Given the description of an element on the screen output the (x, y) to click on. 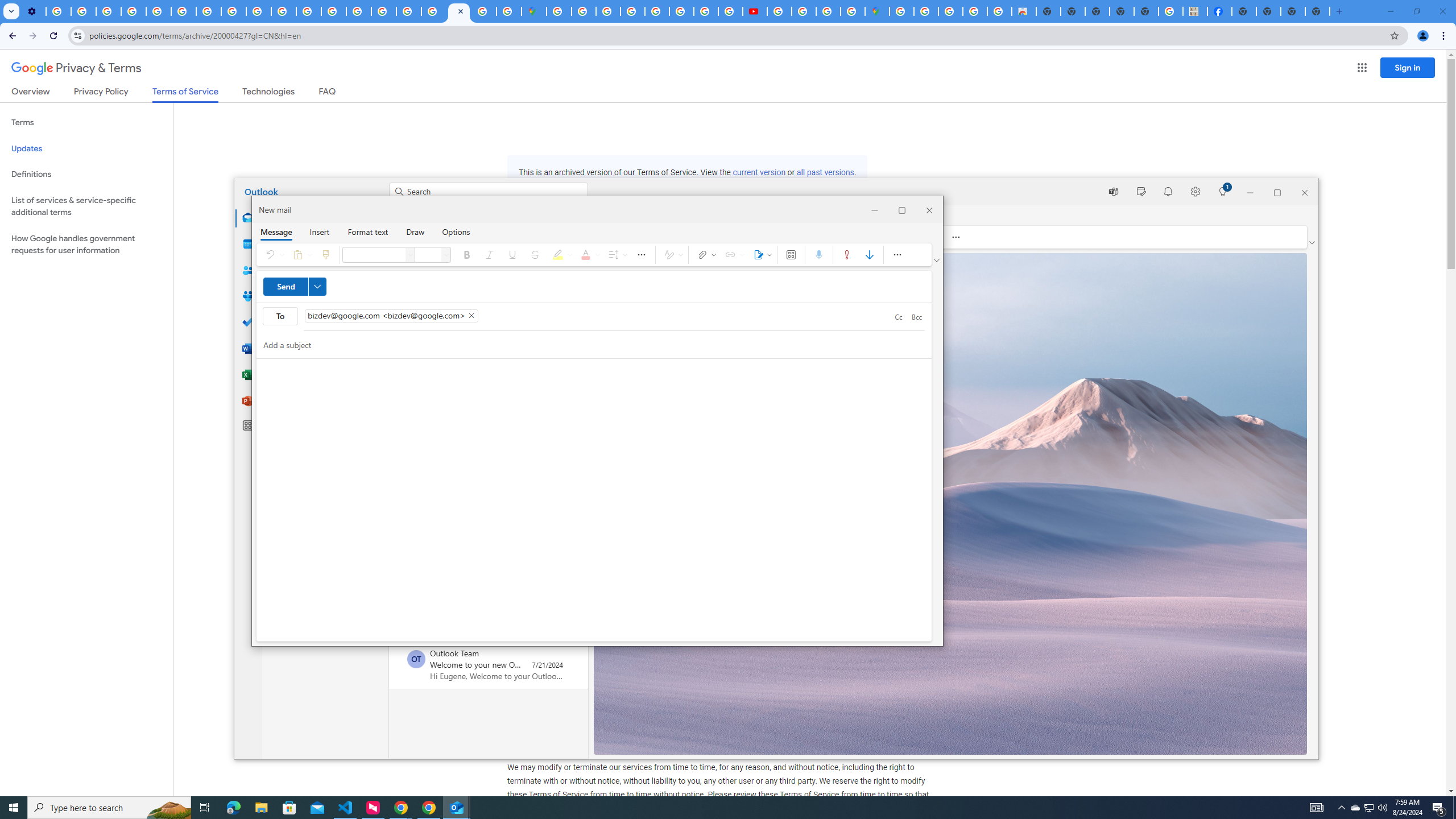
Low importance (868, 254)
Tips, 1 unread items (1368, 807)
Font (1222, 191)
Task View (374, 254)
Add a subject (204, 807)
Font color (583, 344)
Apps (588, 254)
More send options (791, 254)
Message (317, 286)
Microsoft Store (276, 231)
AutomationID: 4105 (289, 807)
Dictate (1316, 807)
Google Chrome - 1 running window (818, 254)
